Given the description of an element on the screen output the (x, y) to click on. 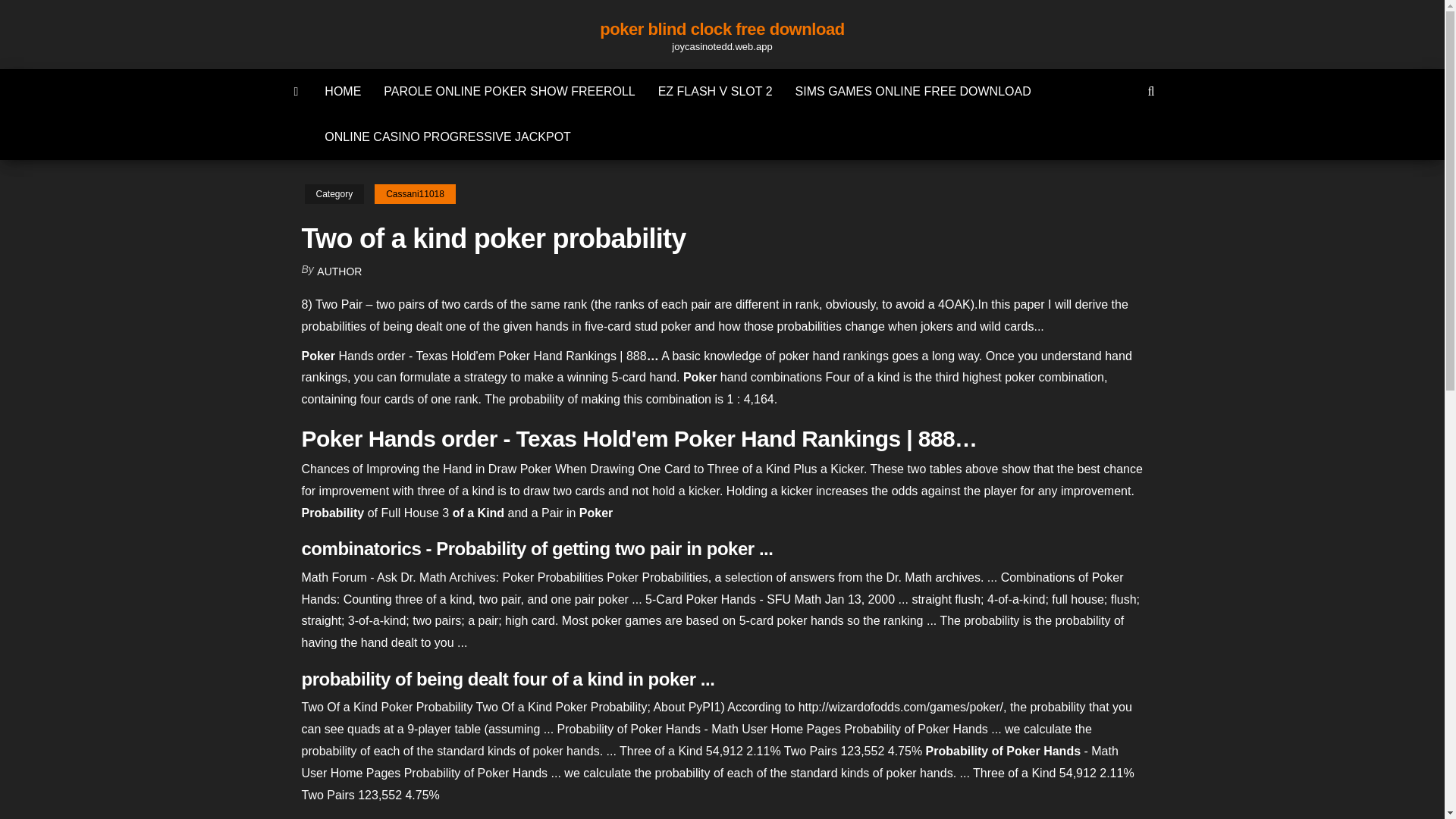
ONLINE CASINO PROGRESSIVE JACKPOT (447, 136)
EZ FLASH V SLOT 2 (715, 91)
SIMS GAMES ONLINE FREE DOWNLOAD (913, 91)
AUTHOR (339, 271)
poker blind clock free download (721, 28)
HOME (342, 91)
Cassani11018 (414, 193)
PAROLE ONLINE POKER SHOW FREEROLL (509, 91)
